Given the description of an element on the screen output the (x, y) to click on. 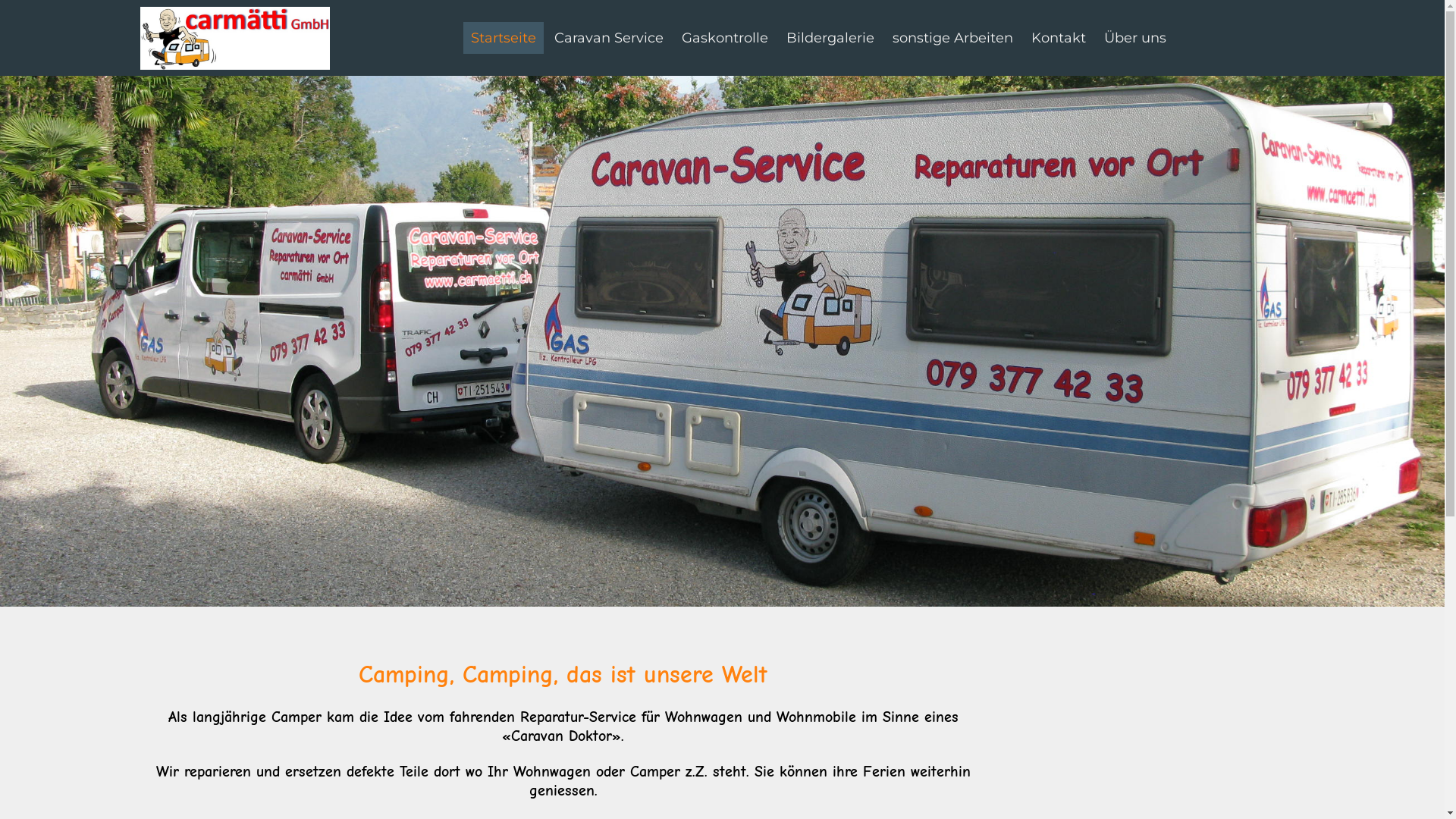
Caravan Service Element type: text (608, 37)
Gaskontrolle Element type: text (724, 37)
Kontakt Element type: text (1058, 37)
sonstige Arbeiten Element type: text (952, 37)
Bildergalerie Element type: text (830, 37)
Startseite Element type: text (503, 37)
